Given the description of an element on the screen output the (x, y) to click on. 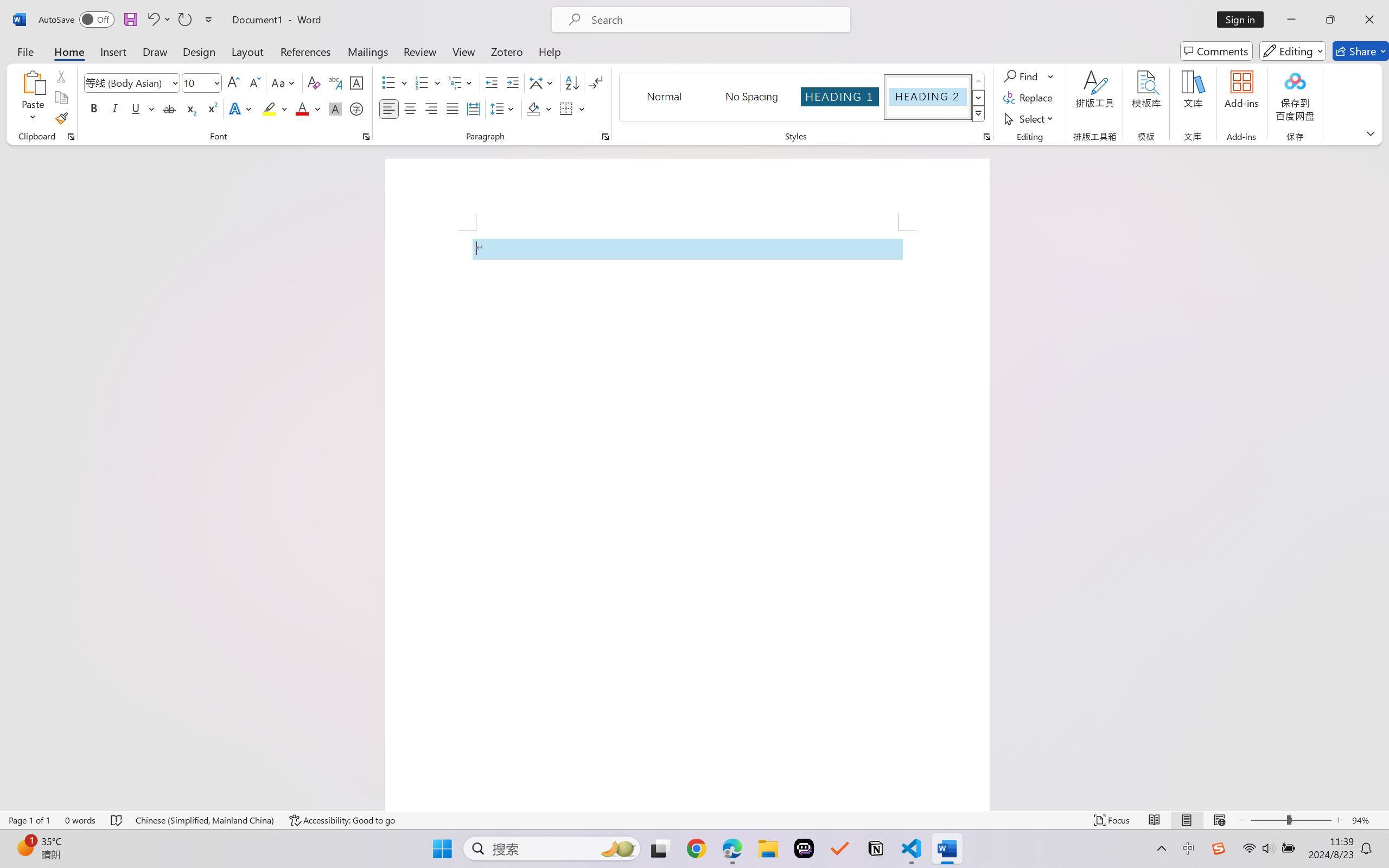
AutomationID: QuickStylesGallery (802, 97)
Repeat Style (184, 19)
